Given the description of an element on the screen output the (x, y) to click on. 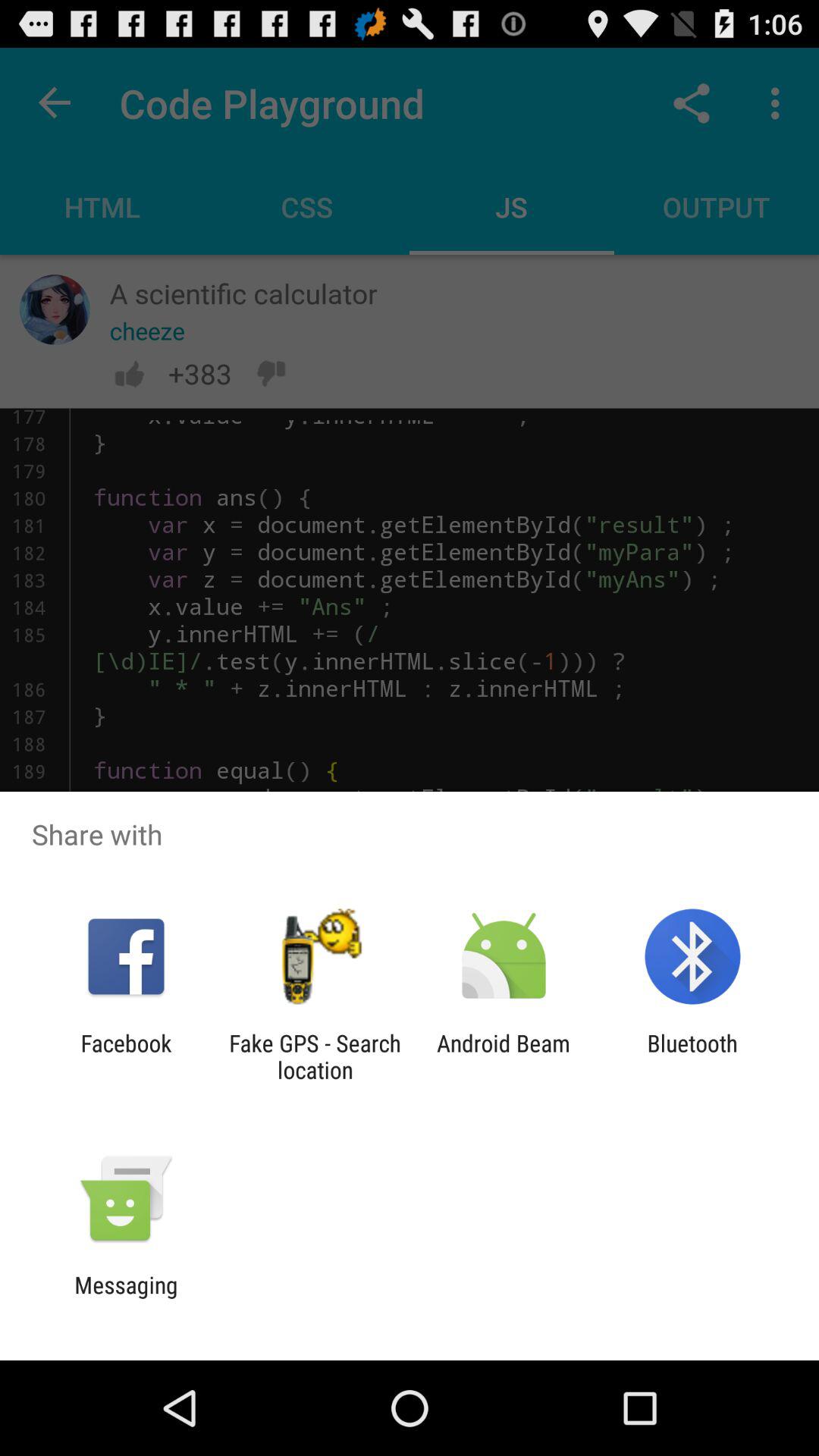
click icon next to android beam app (314, 1056)
